Given the description of an element on the screen output the (x, y) to click on. 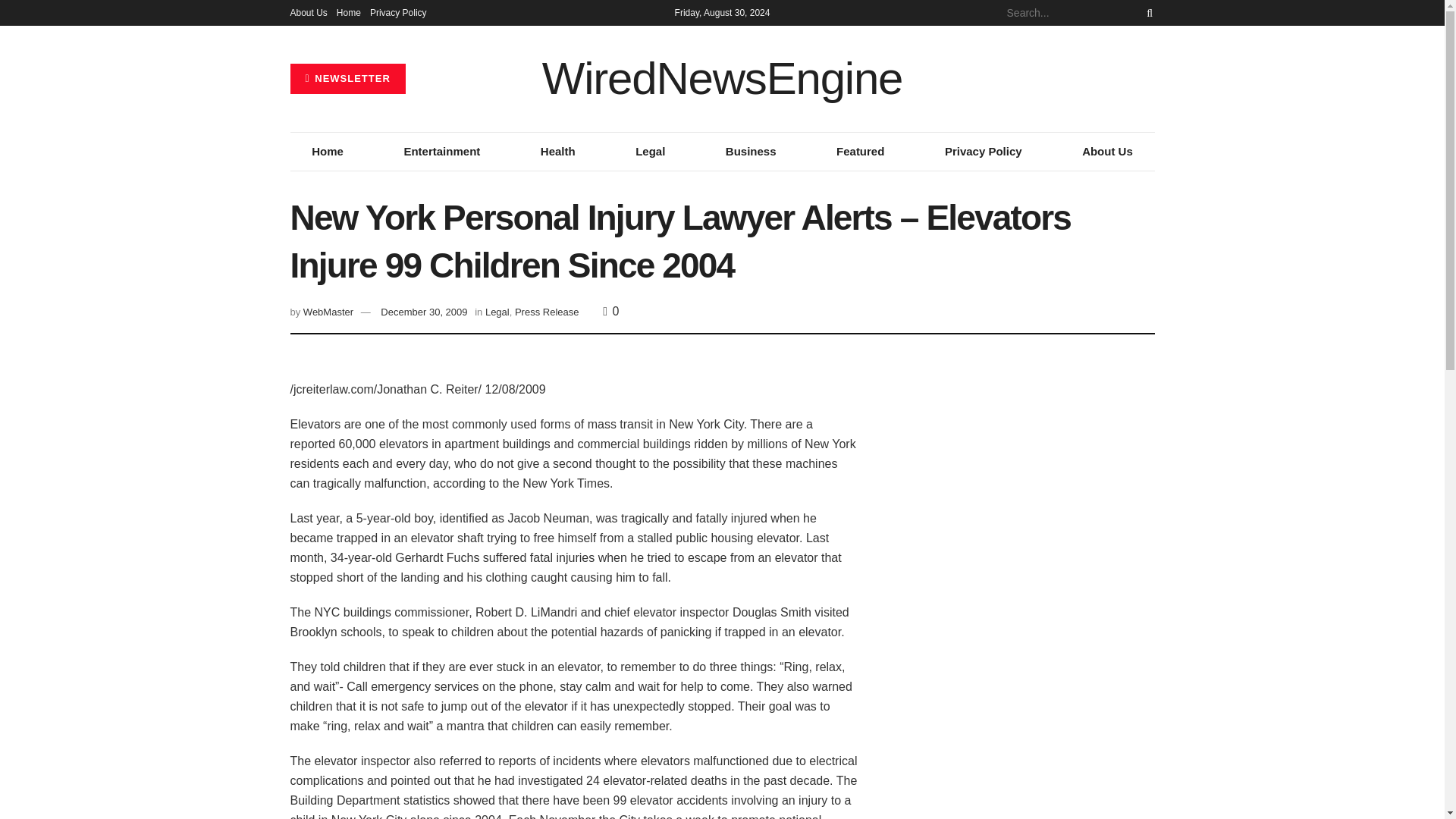
Business (750, 151)
Home (327, 151)
Featured (859, 151)
Entertainment (441, 151)
About Us (1106, 151)
Privacy Policy (983, 151)
NEWSLETTER (346, 78)
WiredNewsEngine (721, 78)
0 (610, 310)
December 30, 2009 (423, 311)
